Given the description of an element on the screen output the (x, y) to click on. 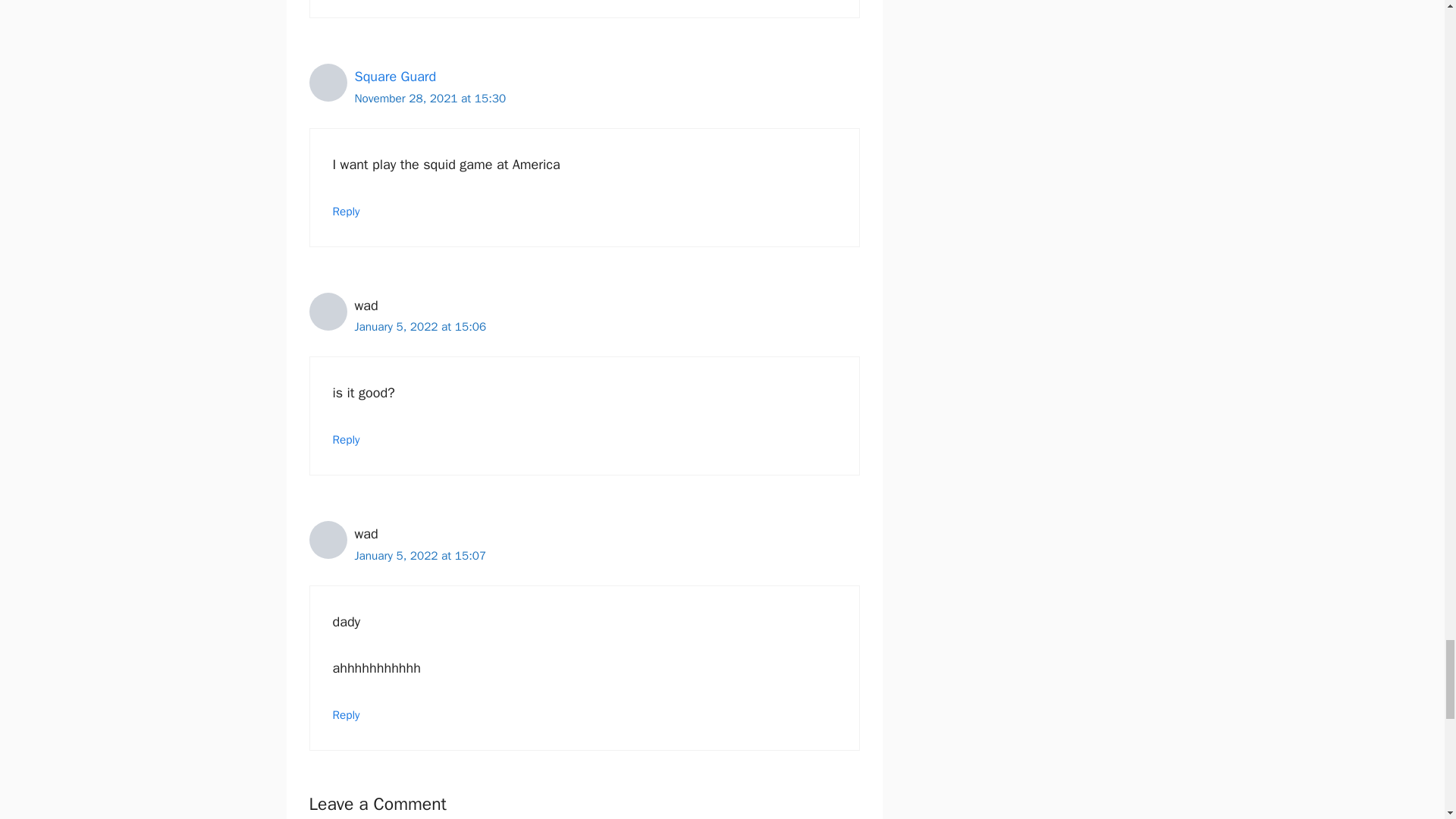
Reply (345, 439)
January 5, 2022 at 15:06 (420, 326)
Square Guard (395, 76)
November 28, 2021 at 15:30 (430, 98)
Reply (345, 211)
